Given the description of an element on the screen output the (x, y) to click on. 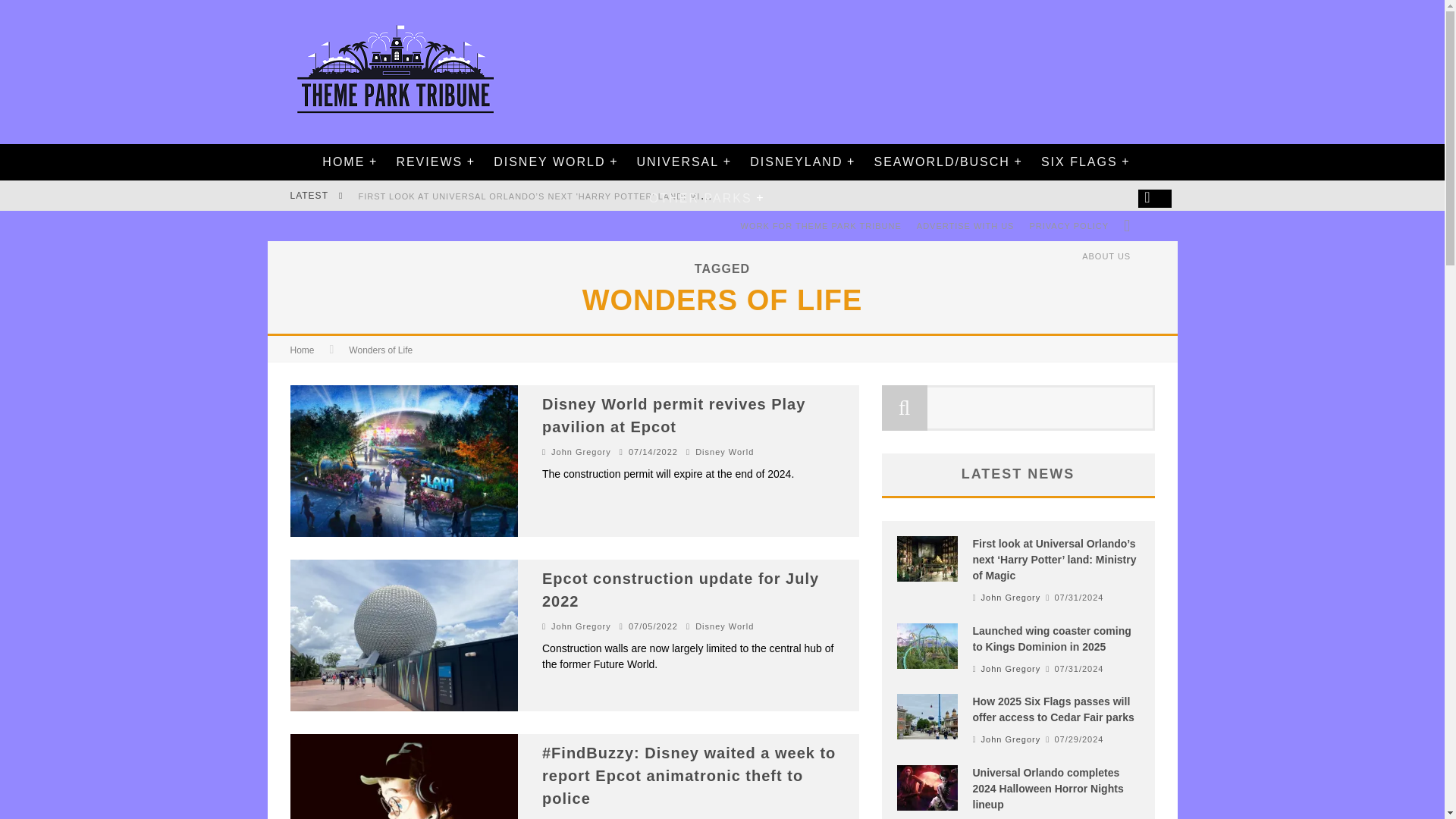
SIX FLAGS (1079, 162)
Log In (721, 470)
DISNEYLAND (795, 162)
John Gregory (581, 451)
HOME (343, 162)
ADVERTISE WITH US (965, 225)
OTHER PARKS (699, 198)
View all posts in Disney World (724, 451)
WORK FOR THEME PARK TRIBUNE (820, 225)
PRIVACY POLICY (1069, 225)
ABOUT US (1106, 255)
Disney World permit revives Play pavilion at Epcot (673, 414)
SeaWorld Orlando (940, 162)
UNIVERSAL (677, 162)
DISNEY WORLD (548, 162)
